Given the description of an element on the screen output the (x, y) to click on. 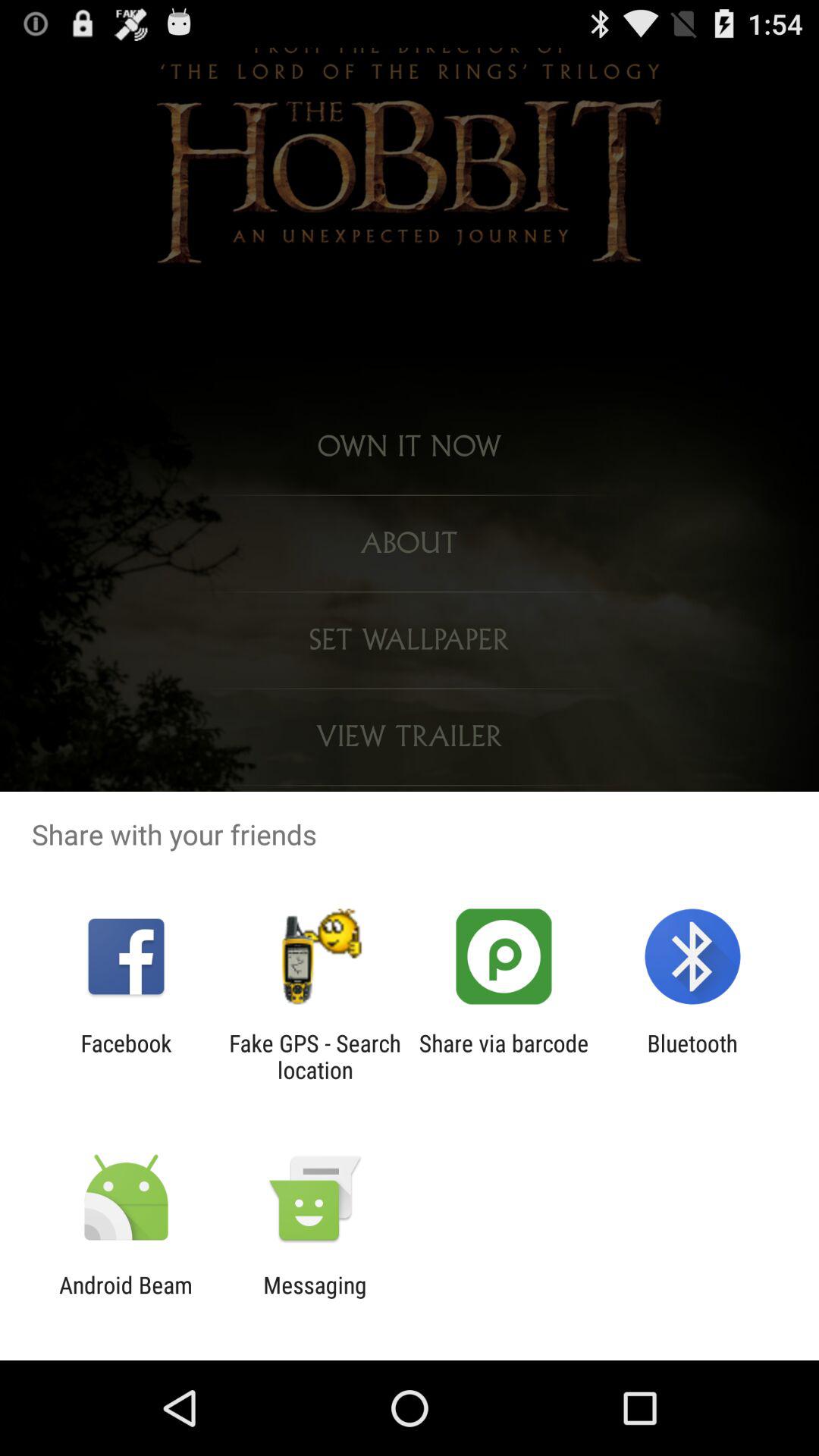
click app next to the android beam icon (314, 1298)
